Given the description of an element on the screen output the (x, y) to click on. 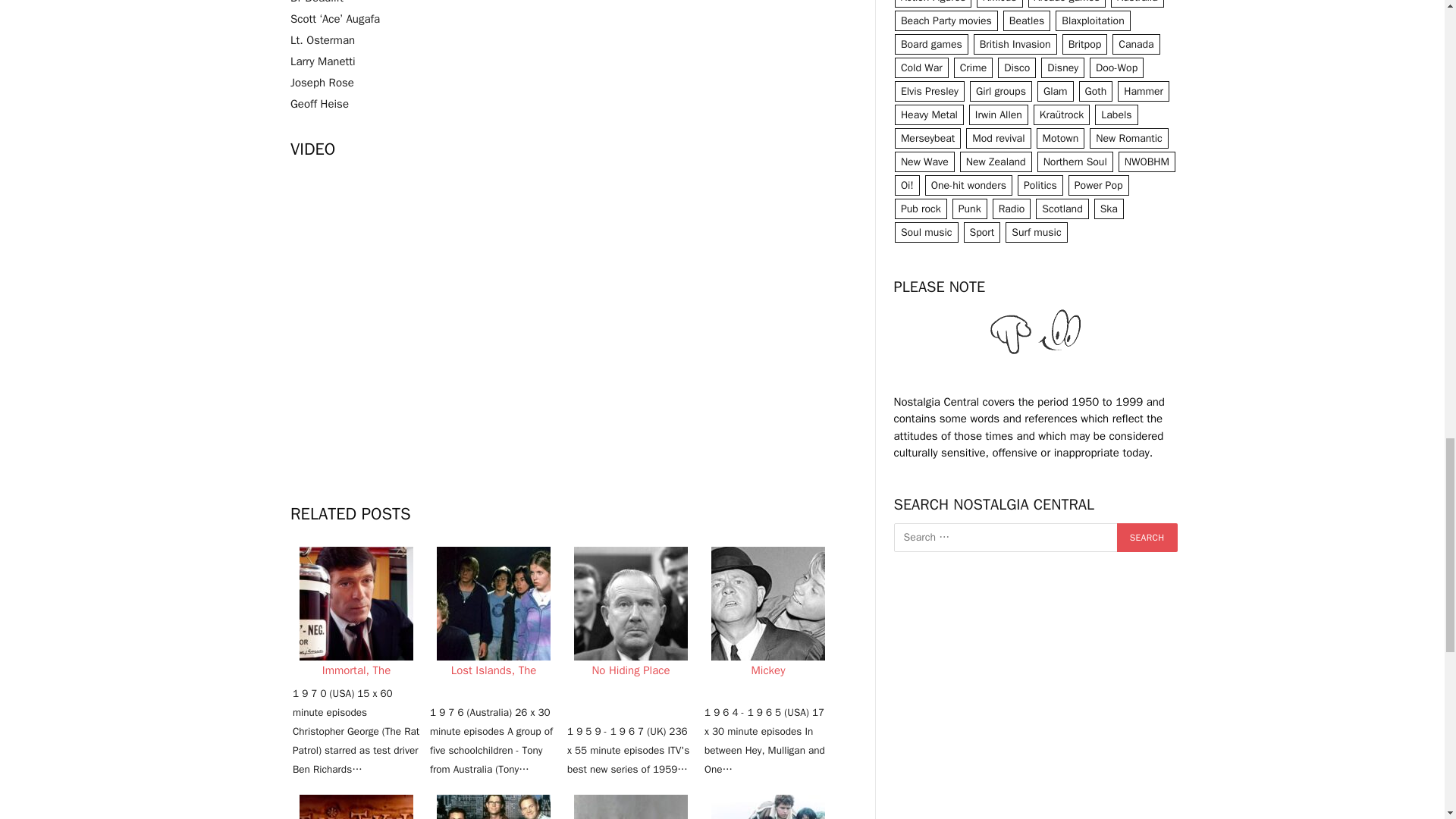
Search (1146, 537)
Immortal, The (356, 603)
No Hiding Place (630, 603)
Julia Jekyll and Harriet Hyde (356, 806)
Mickey (768, 603)
Search (1146, 537)
Lost Islands, The (493, 603)
